Given the description of an element on the screen output the (x, y) to click on. 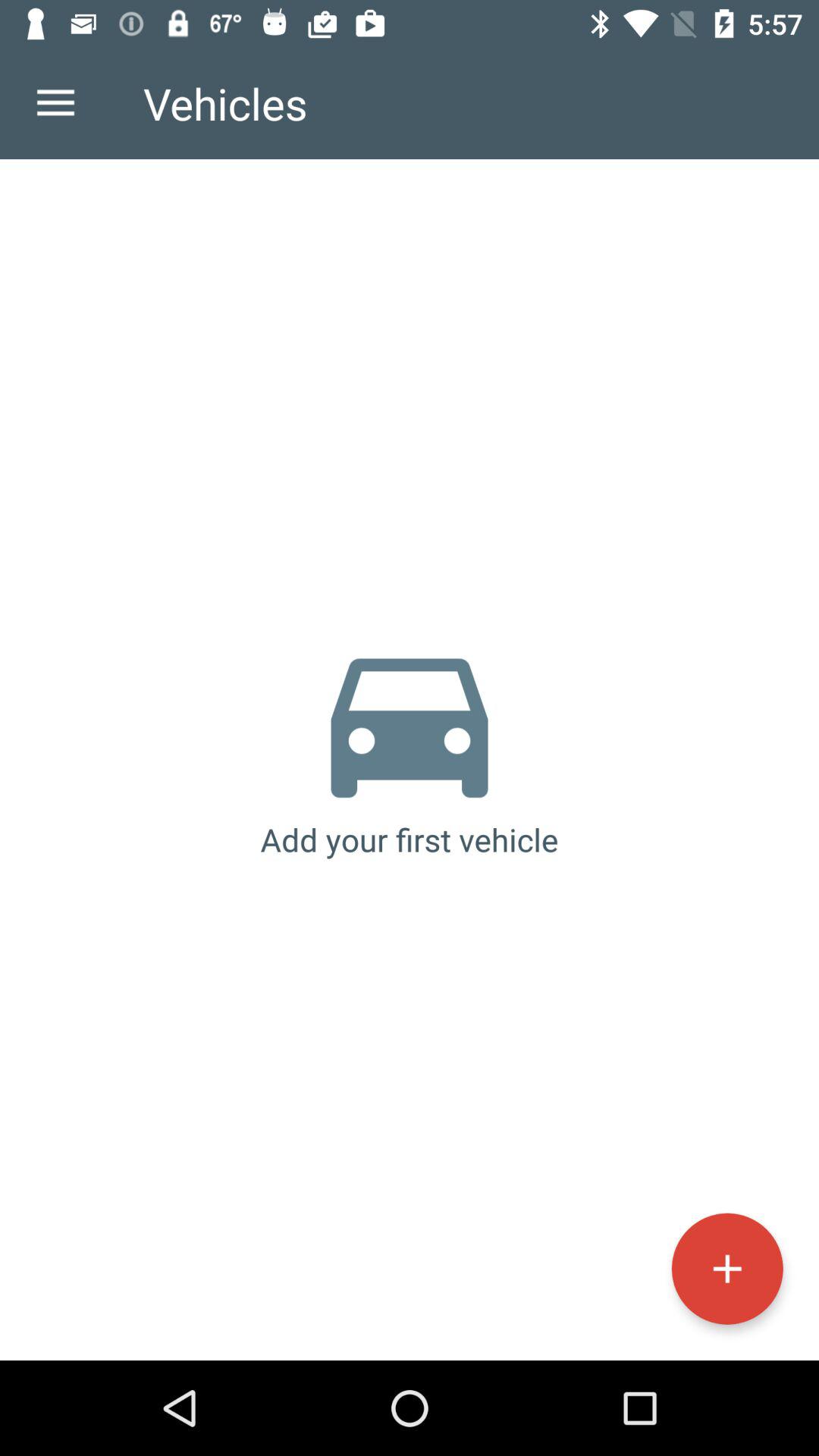
add (727, 1268)
